Given the description of an element on the screen output the (x, y) to click on. 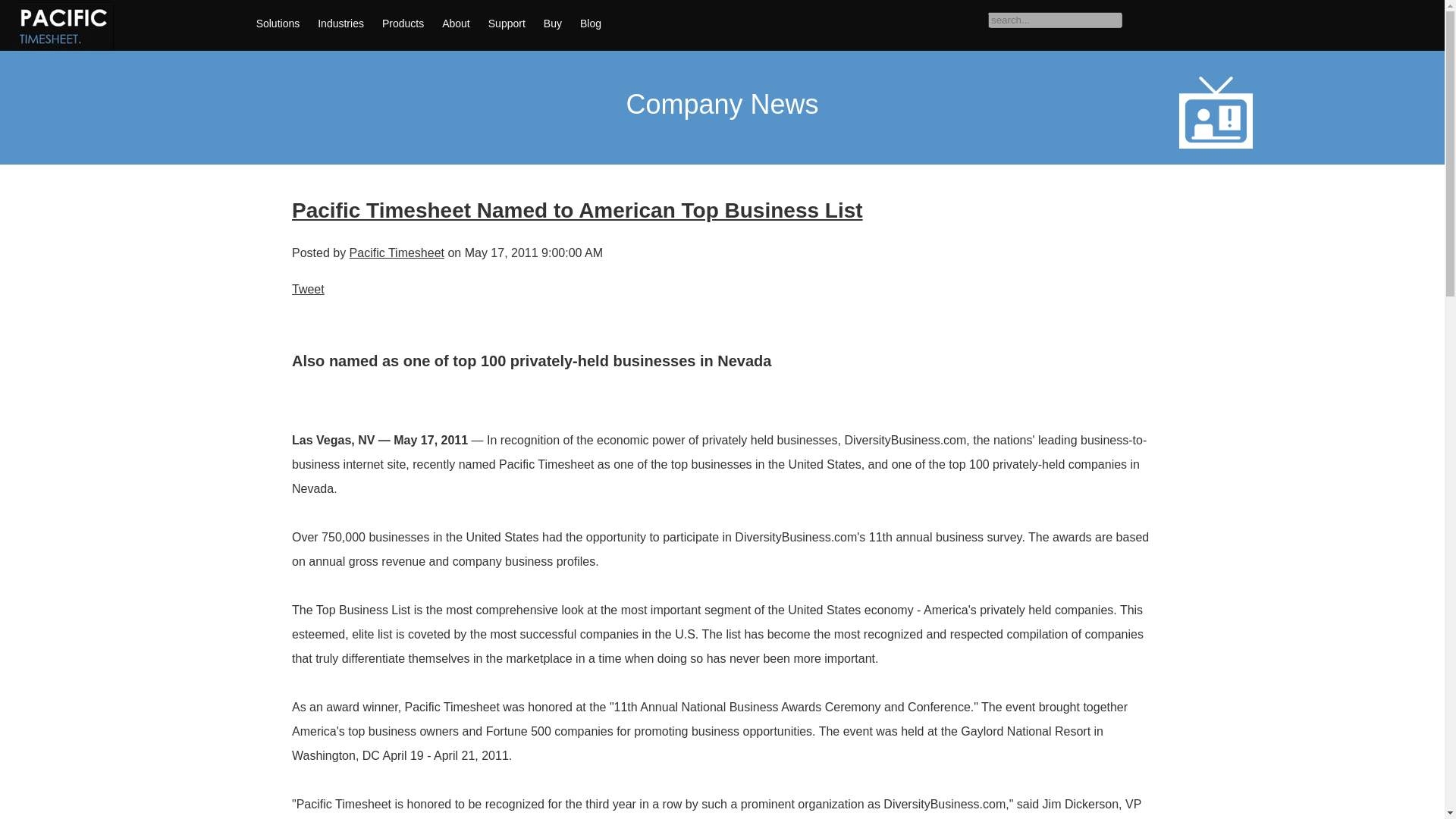
logo-2015-v11 (63, 26)
Solutions (277, 23)
Industries (340, 23)
Products (402, 23)
